Given the description of an element on the screen output the (x, y) to click on. 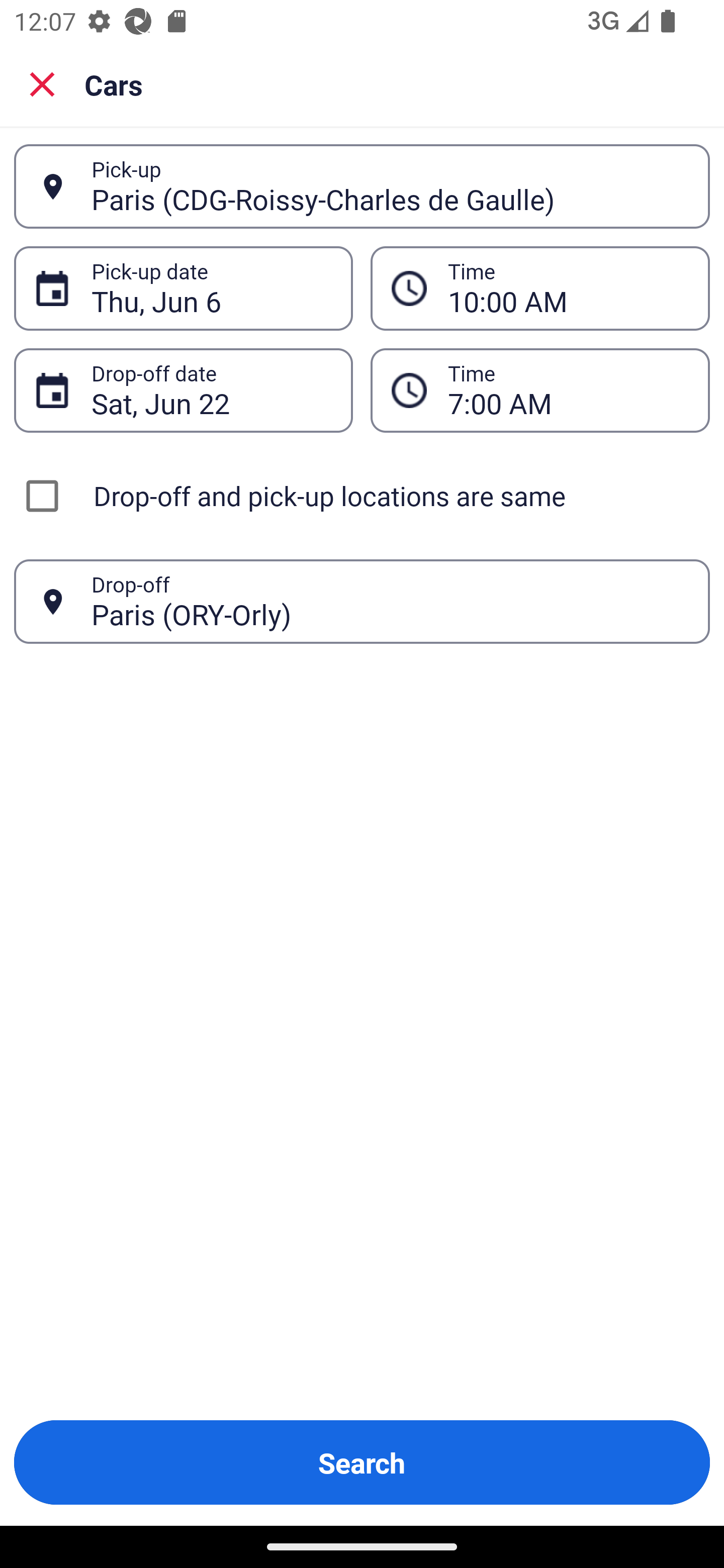
Close search screen (42, 84)
Paris (CDG-Roissy-Charles de Gaulle) (389, 186)
Thu, Jun 6 (211, 288)
10:00 AM (568, 288)
Sat, Jun 22 (211, 390)
7:00 AM (568, 390)
Drop-off and pick-up locations are same (361, 495)
Paris (ORY-Orly) (389, 601)
Search Button Search (361, 1462)
